Given the description of an element on the screen output the (x, y) to click on. 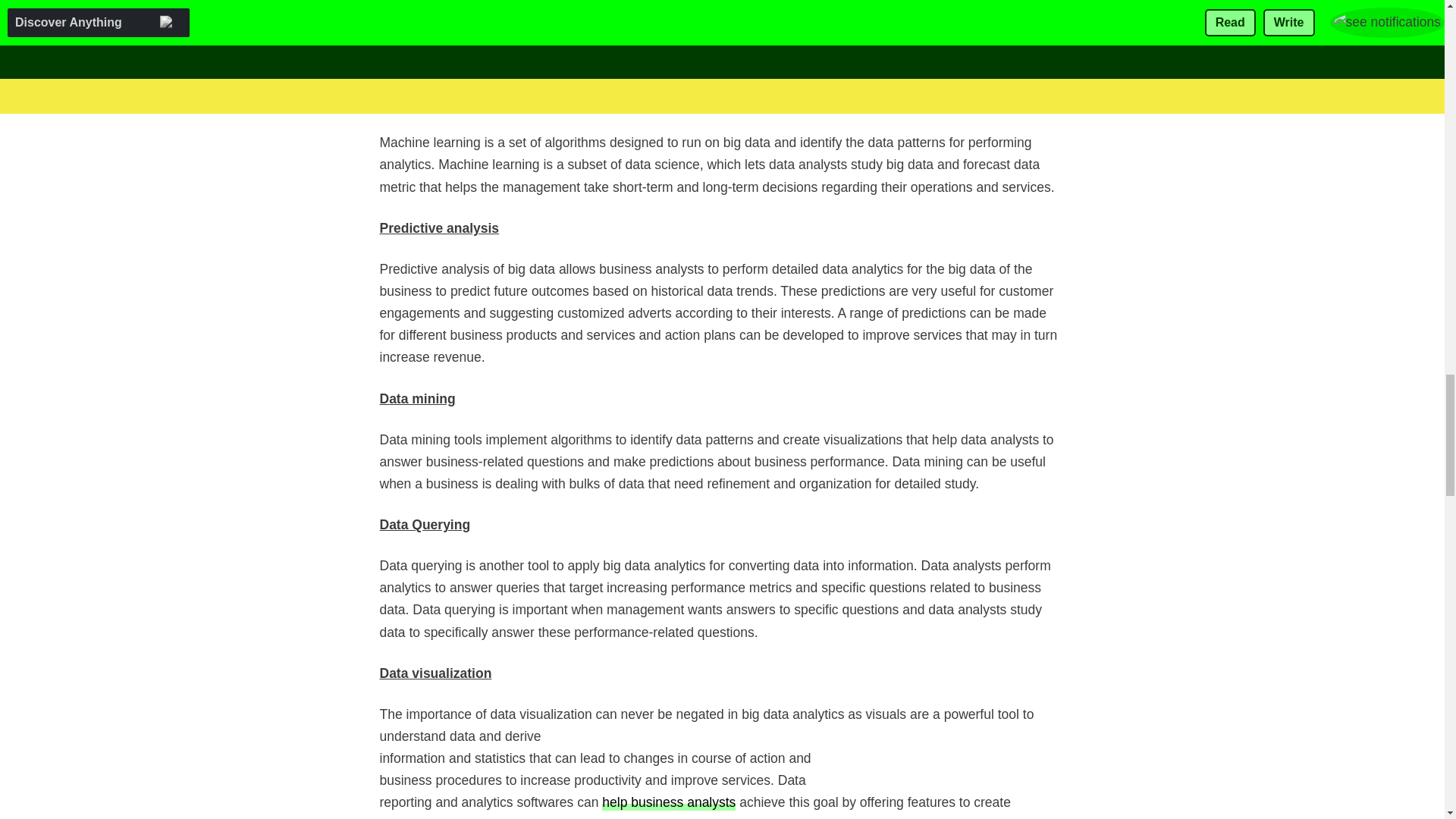
help business analysts (668, 801)
